Given the description of an element on the screen output the (x, y) to click on. 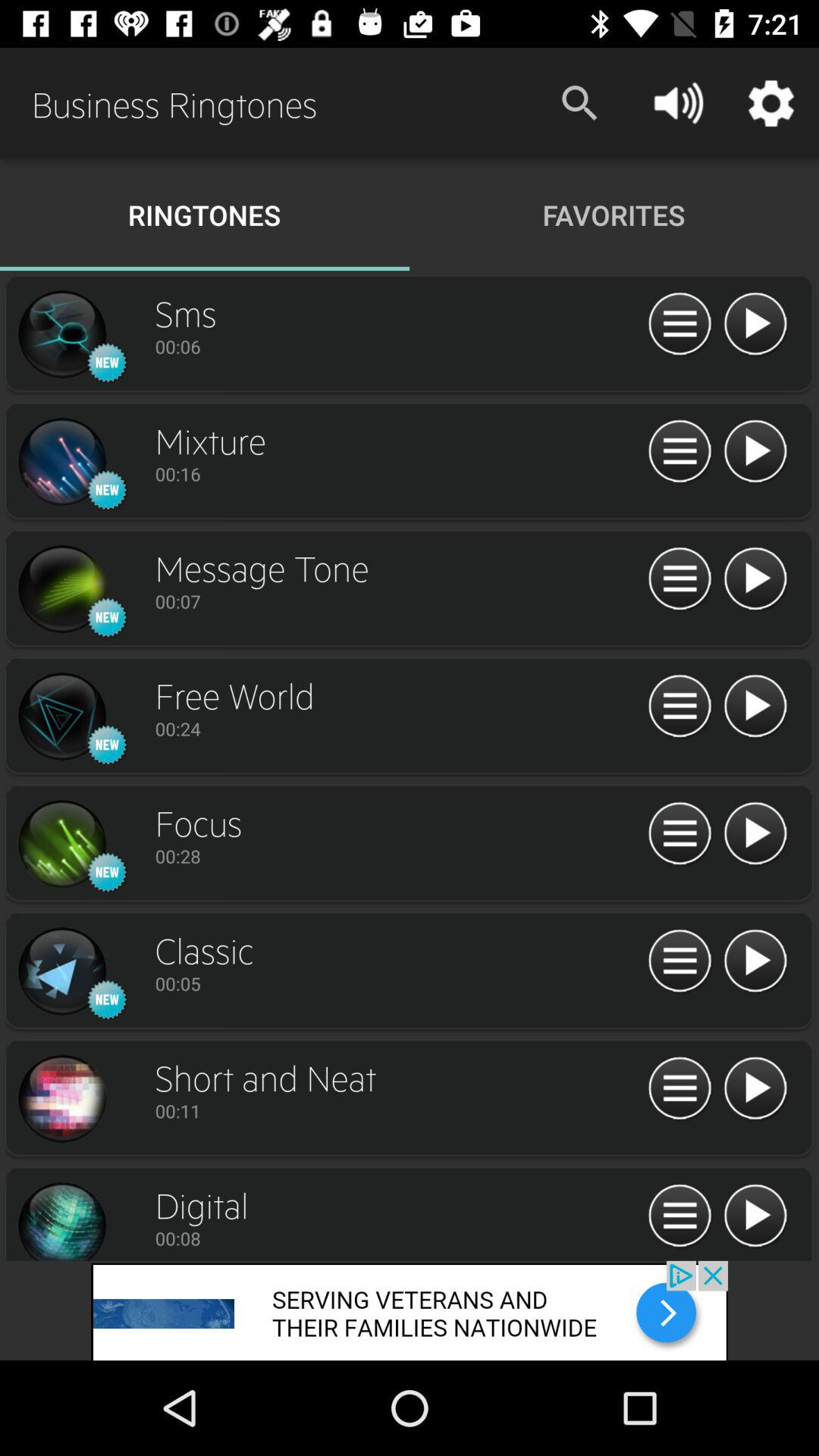
play option (755, 451)
